Given the description of an element on the screen output the (x, y) to click on. 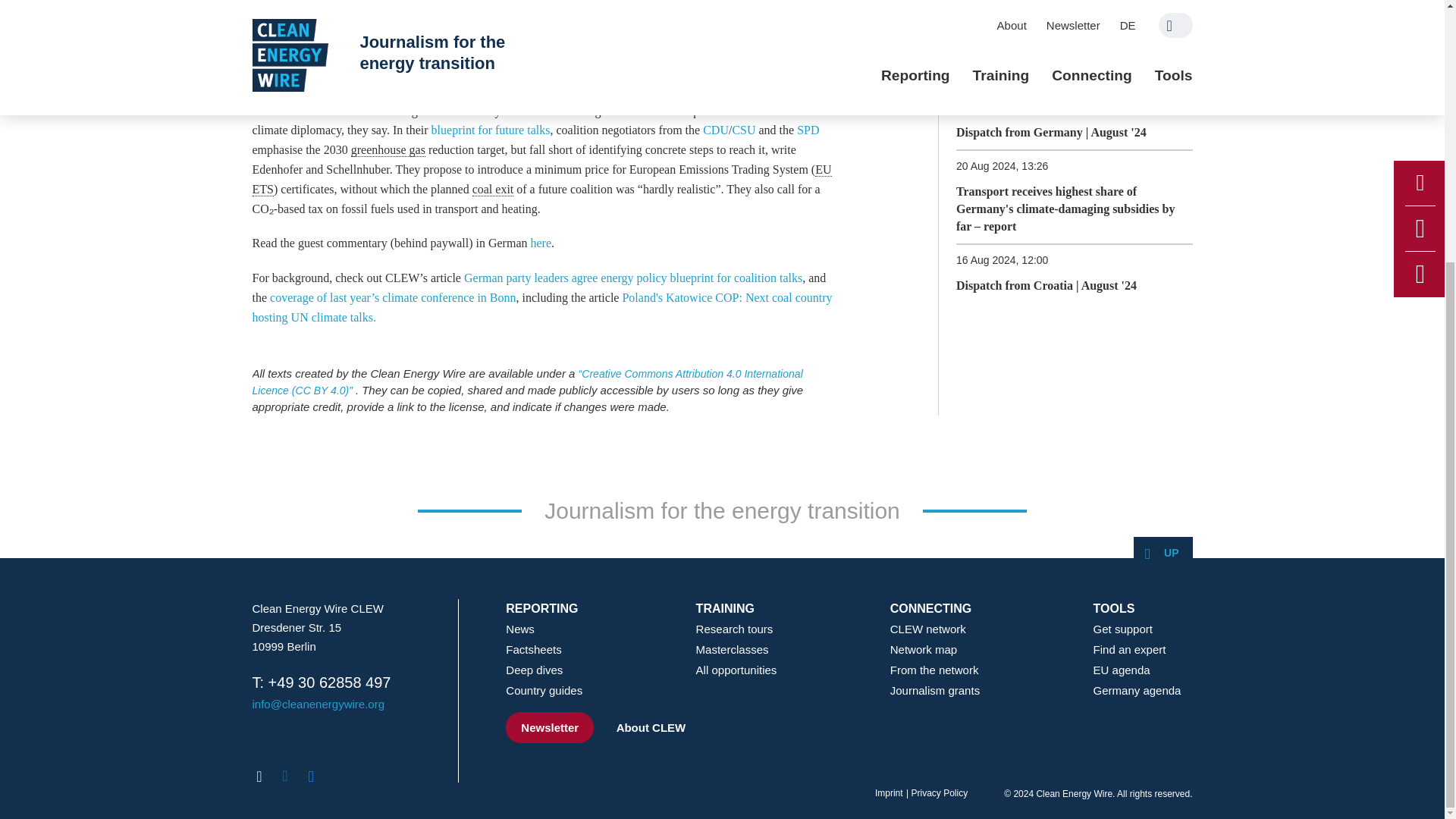
At the next UN climate conference in Poland (360, 71)
Fossil fuels (437, 6)
COP24 (373, 6)
